Given the description of an element on the screen output the (x, y) to click on. 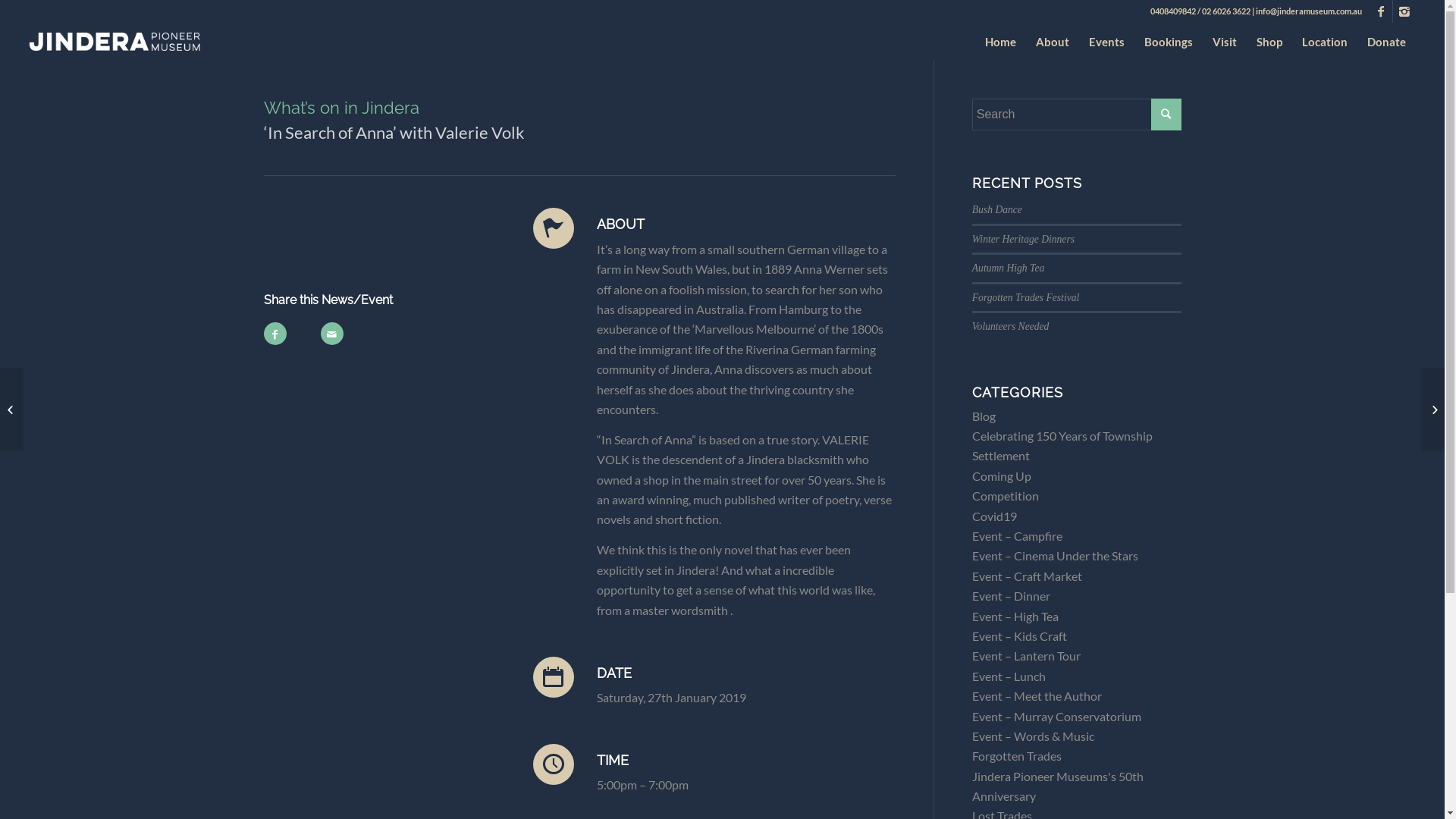
Facebook Element type: hover (1381, 11)
Covid19 Element type: text (994, 515)
Volunteers Needed Element type: text (1010, 326)
About Element type: text (1052, 41)
Competition Element type: text (1005, 495)
Instagram Element type: hover (1404, 11)
Bookings Element type: text (1168, 41)
Forgotten Trades Festival Element type: text (1025, 297)
info@jinderamuseum.com.au Element type: text (1308, 10)
Location Element type: text (1324, 41)
Home Element type: text (1000, 41)
Shop Element type: text (1269, 41)
Winter Heritage Dinners Element type: text (1023, 238)
Bush Dance Element type: text (997, 209)
Visit Element type: text (1224, 41)
Jindera Pioneer Museums's 50th Anniversary Element type: text (1057, 785)
Celebrating 150 Years of Township Settlement Element type: text (1062, 445)
Blog Element type: text (983, 415)
Coming Up Element type: text (1001, 475)
Forgotten Trades Element type: text (1016, 755)
Autumn High Tea Element type: text (1008, 267)
Events Element type: text (1106, 41)
Donate Element type: text (1386, 41)
